Given the description of an element on the screen output the (x, y) to click on. 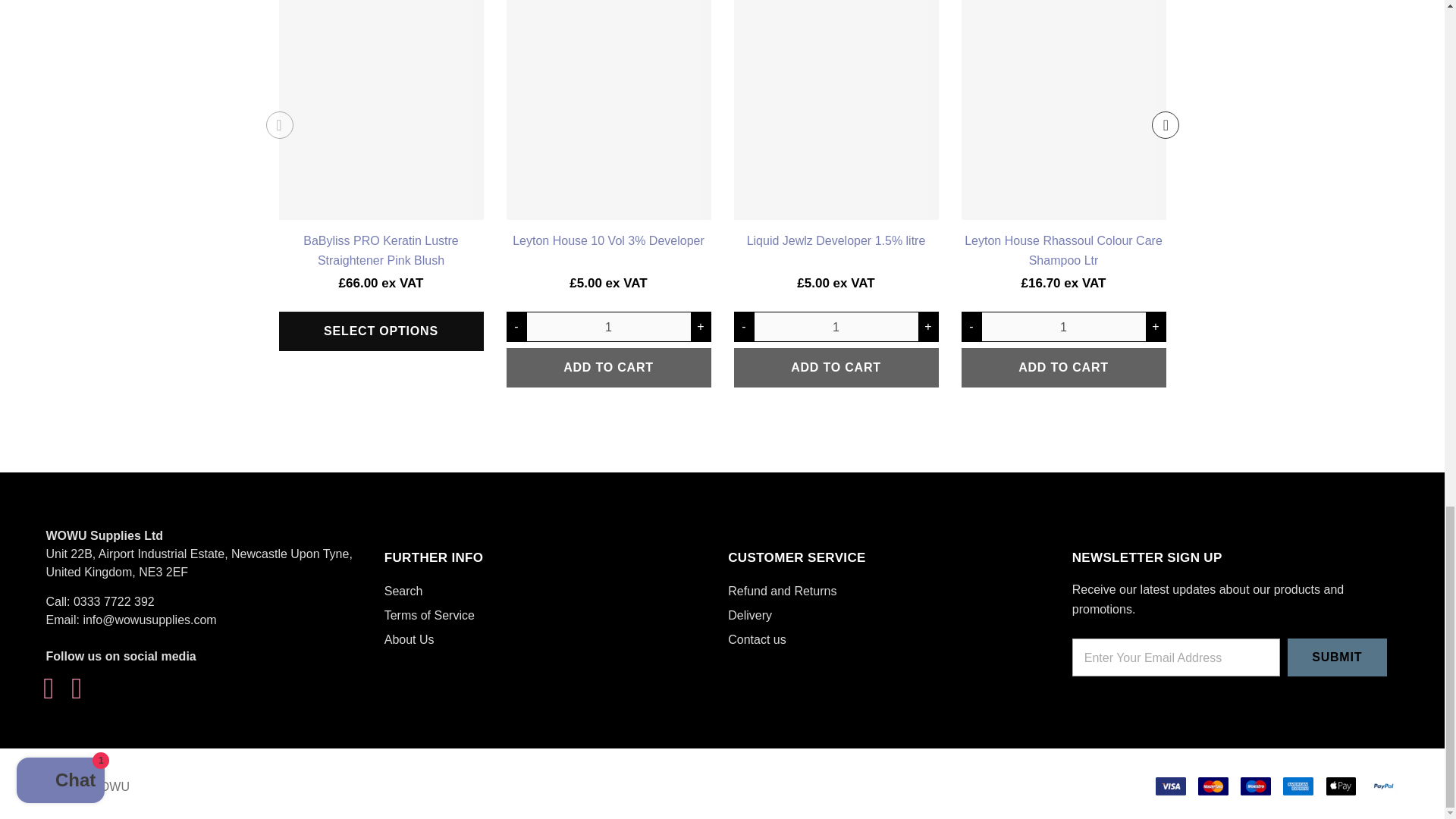
Submit (1337, 657)
BaByliss PRO Keratin Lustre Straightener Pink Blush (381, 331)
1 (835, 326)
- (743, 326)
- (970, 326)
1 (1062, 326)
- (516, 326)
1 (607, 326)
